Given the description of an element on the screen output the (x, y) to click on. 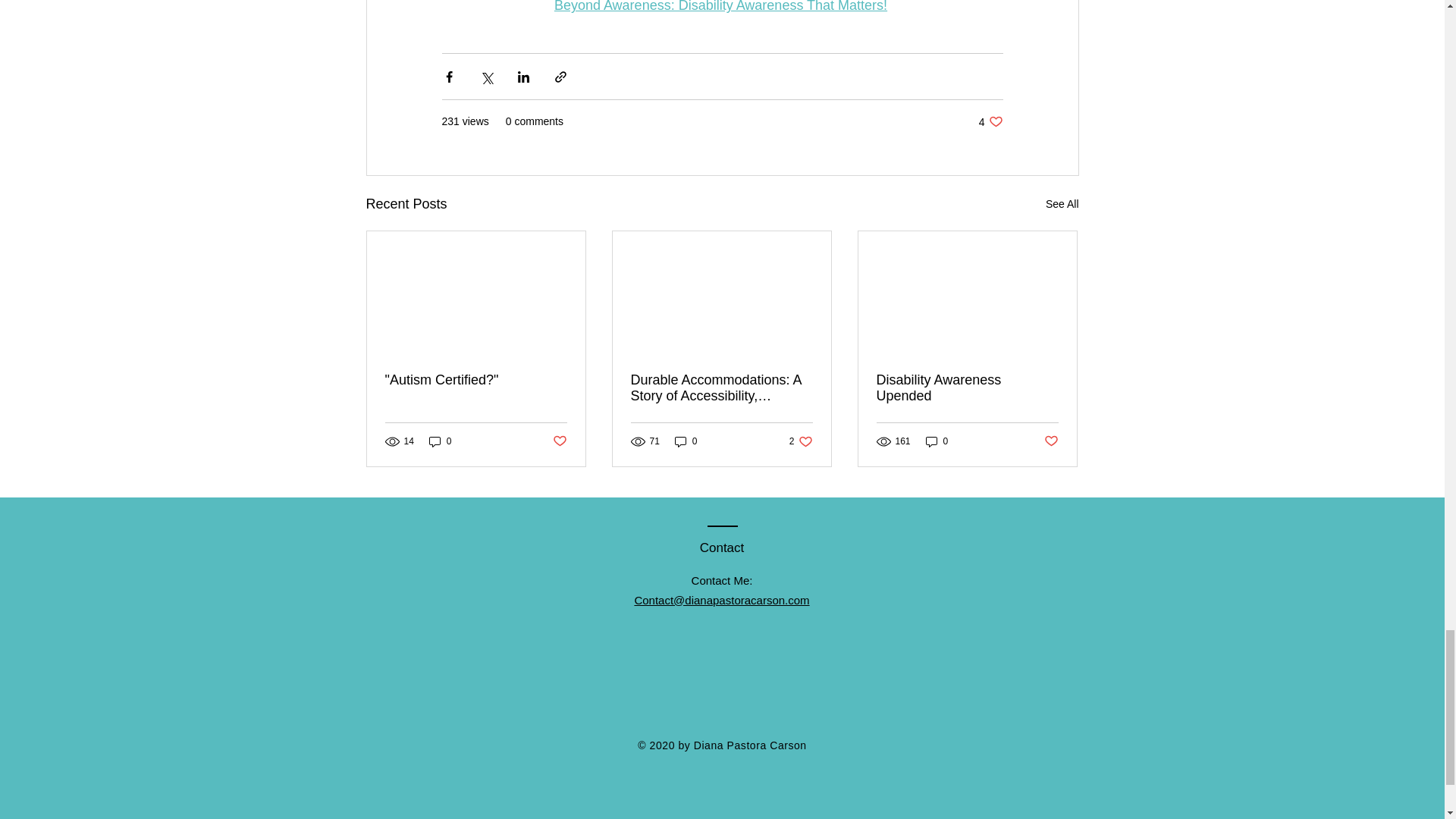
Post not marked as liked (990, 121)
Disability Awareness Upended (1050, 441)
0 (967, 388)
0 (937, 441)
See All (440, 441)
Beyond Awareness: Disability Awareness That Matters! (1061, 204)
0 (800, 441)
"Autism Certified?" (719, 6)
Post not marked as liked (685, 441)
